Given the description of an element on the screen output the (x, y) to click on. 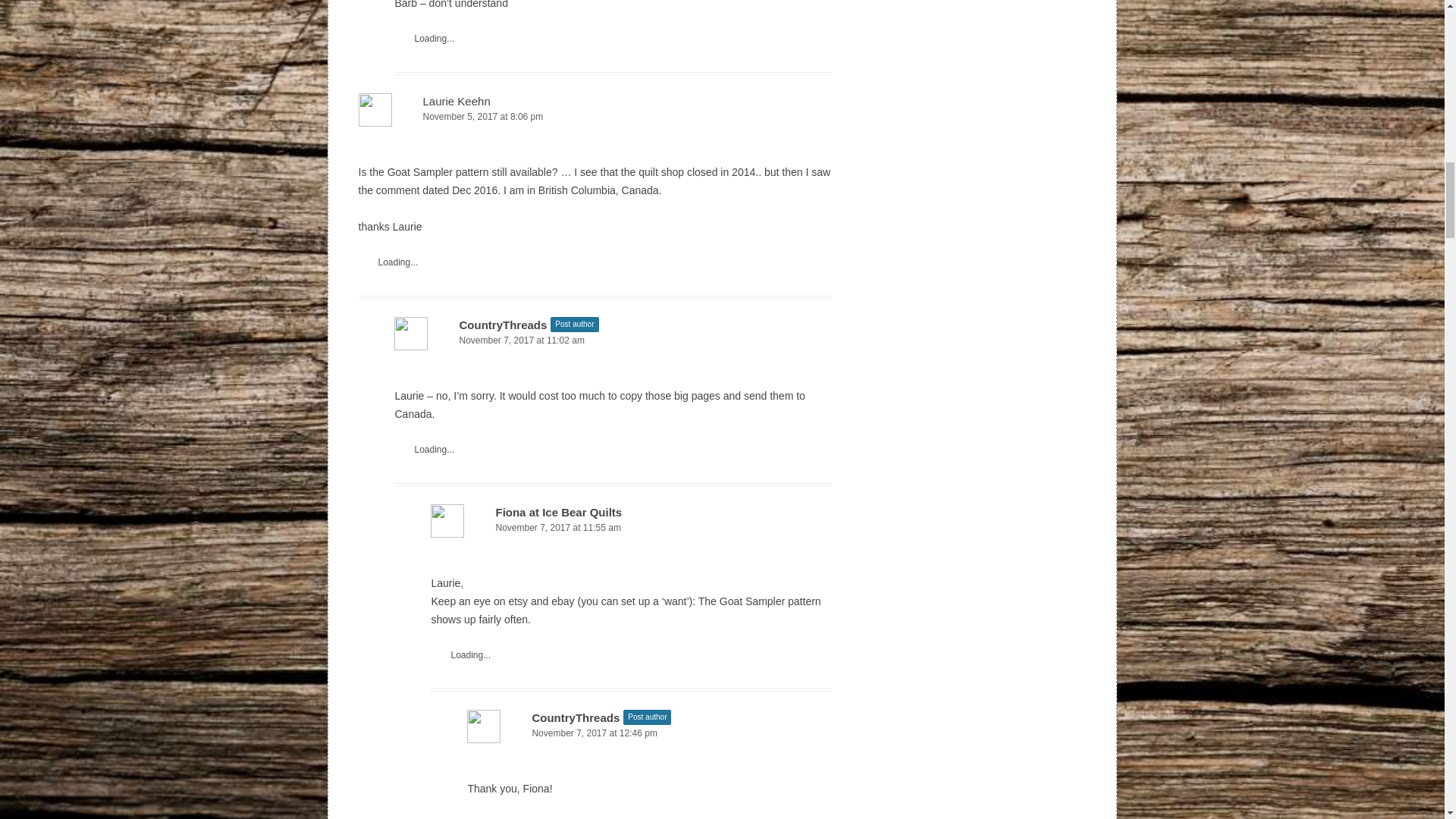
November 7, 2017 at 12:46 pm (649, 733)
November 7, 2017 at 11:02 am (612, 340)
November 7, 2017 at 11:55 am (630, 528)
November 5, 2017 at 8:06 pm (594, 116)
